Given the description of an element on the screen output the (x, y) to click on. 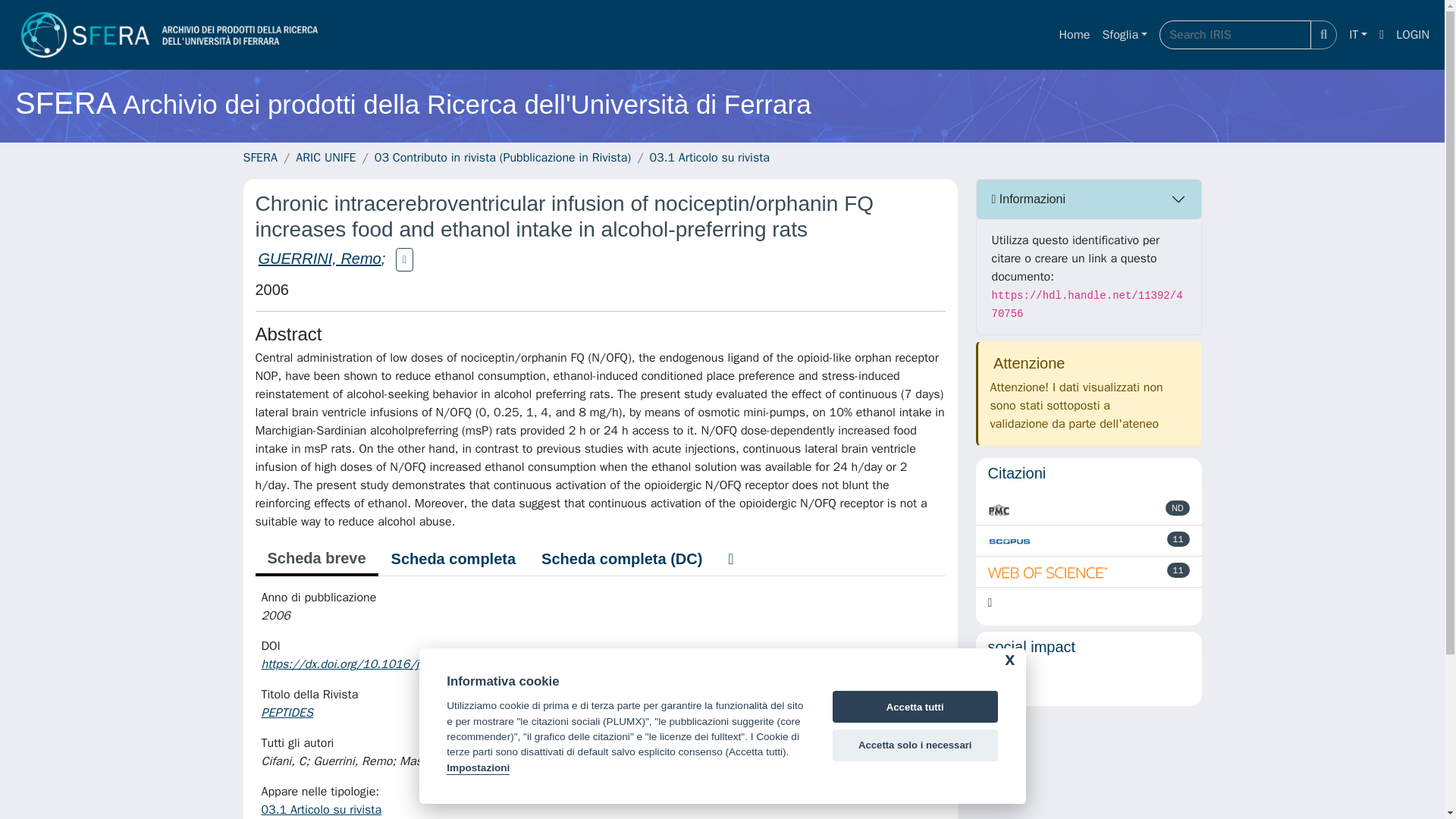
Home (1074, 34)
Scheda breve (315, 559)
PEPTIDES (287, 712)
SFERA (259, 157)
03.1 Articolo su rivista (709, 157)
LOGIN (1412, 34)
 Informazioni (1088, 199)
ARIC UNIFE (325, 157)
GUERRINI, Remo (318, 258)
Scheda completa (453, 558)
